Given the description of an element on the screen output the (x, y) to click on. 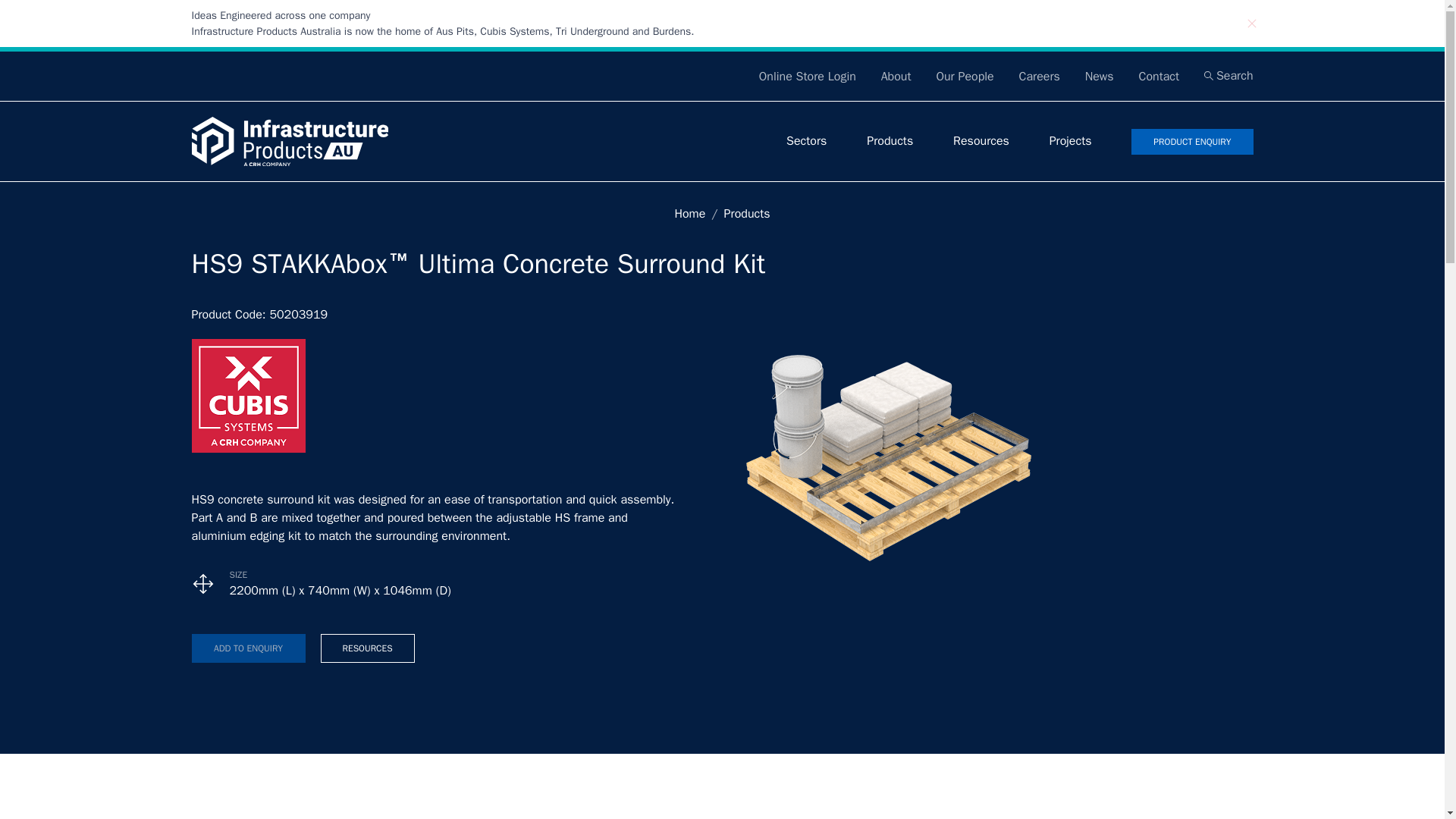
About (895, 76)
Online Store Login (807, 76)
Sectors (806, 140)
Projects (1070, 140)
Contact (1158, 76)
Home (689, 213)
Products (889, 140)
RESOURCES (366, 647)
Careers (1039, 76)
News (1098, 76)
Our People (964, 76)
PRODUCT ENQUIRY (1191, 141)
Products (746, 213)
Search (1228, 75)
Resources (981, 140)
